Given the description of an element on the screen output the (x, y) to click on. 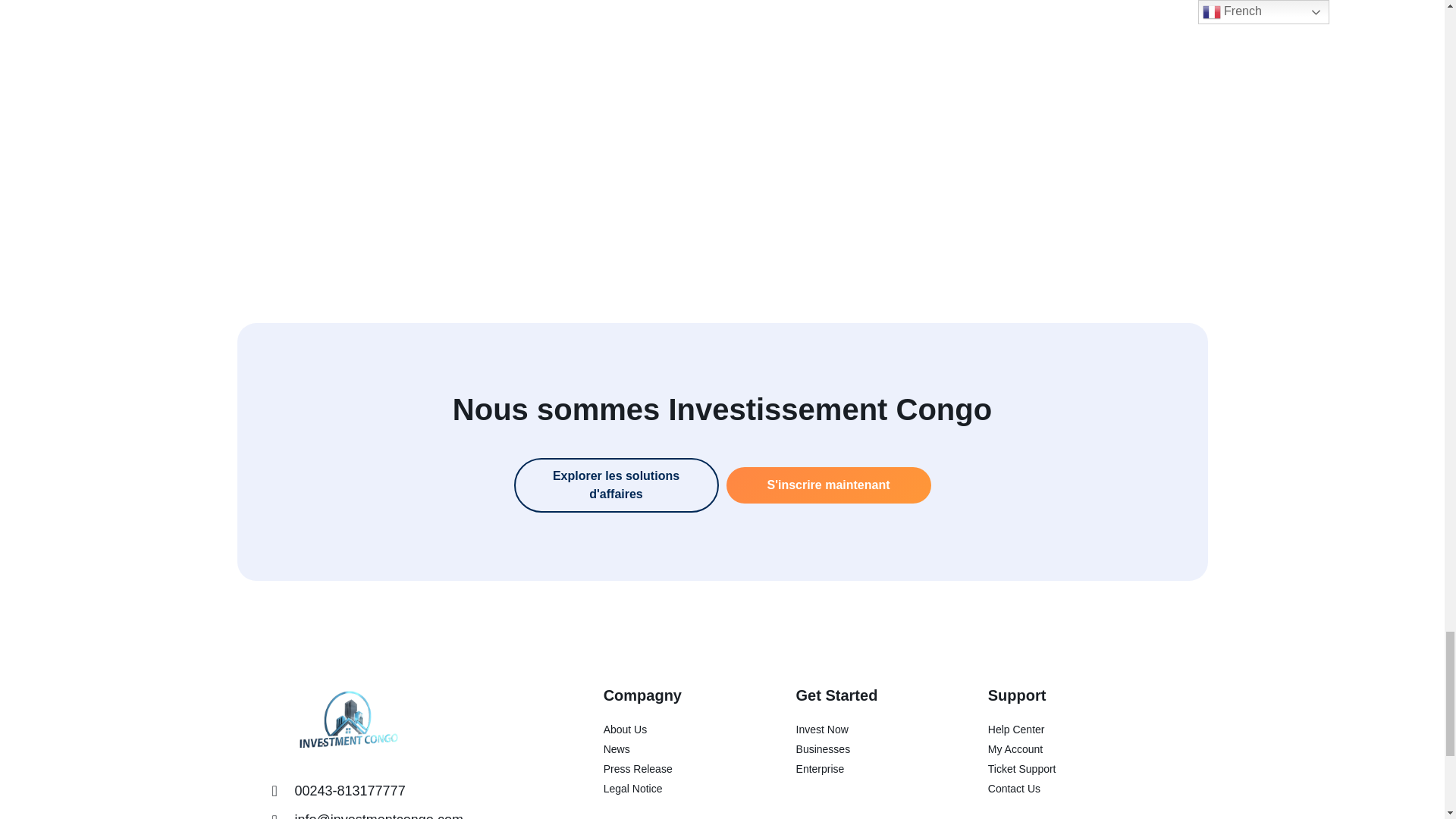
Explorer les solutions d'affaires (616, 484)
Enterprise (864, 768)
Legal Notice (672, 788)
Businesses (864, 749)
Invest Now (864, 729)
S'inscrire maintenant (828, 484)
News (672, 749)
Press Release (672, 768)
Help Center (1080, 729)
About Us (672, 729)
